Given the description of an element on the screen output the (x, y) to click on. 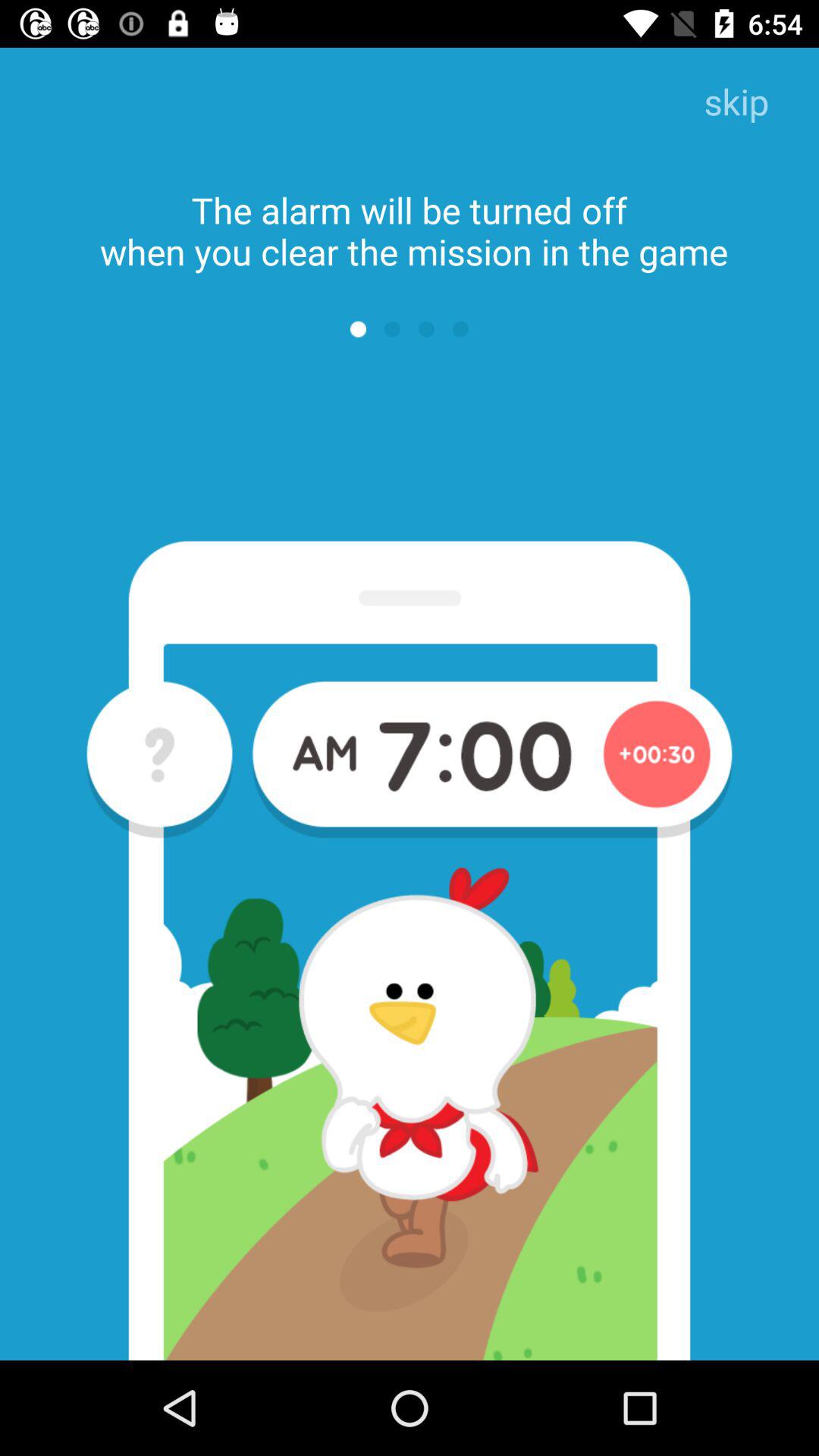
launch skip item (736, 103)
